Given the description of an element on the screen output the (x, y) to click on. 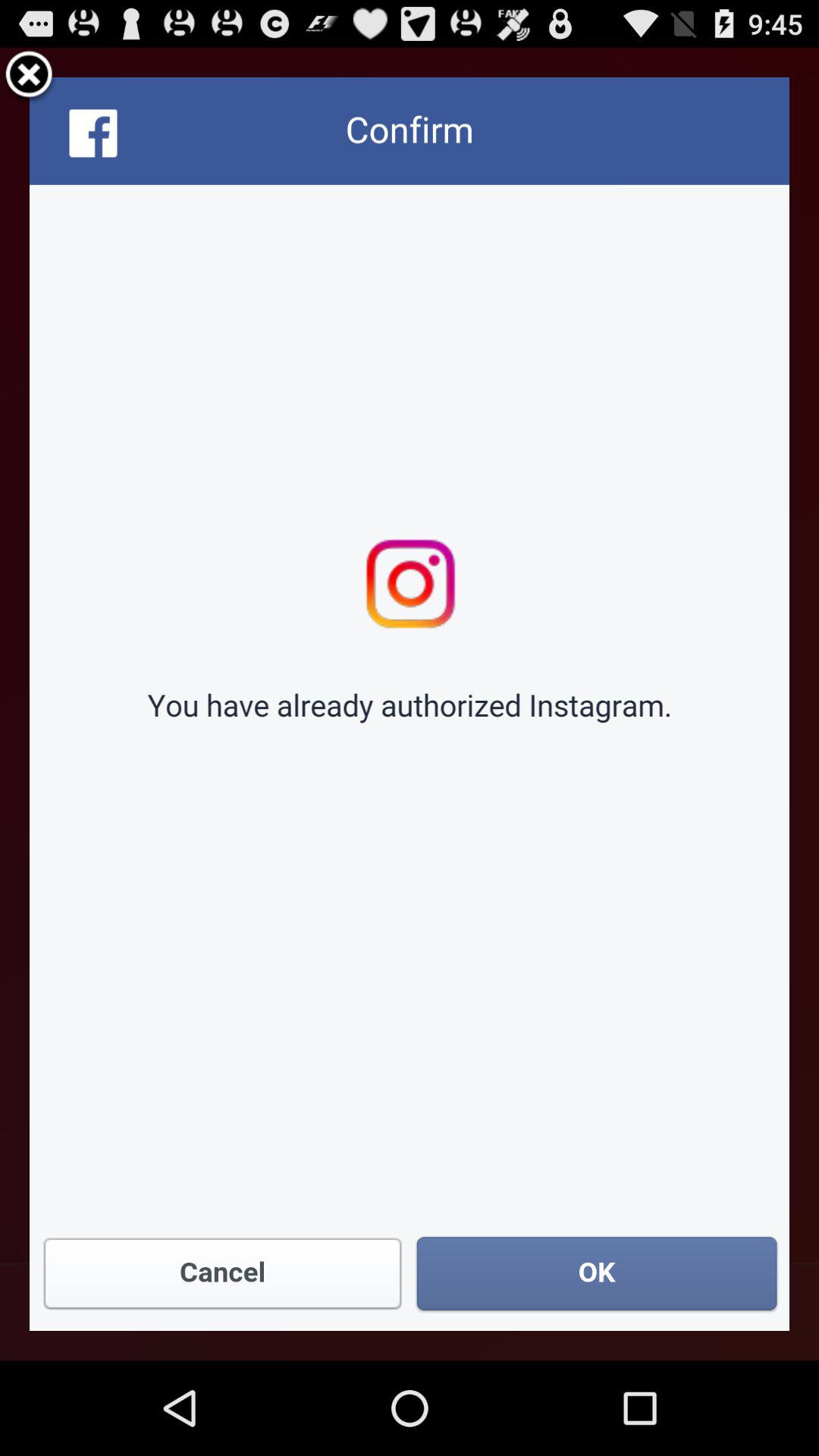
cancel page (29, 76)
